Given the description of an element on the screen output the (x, y) to click on. 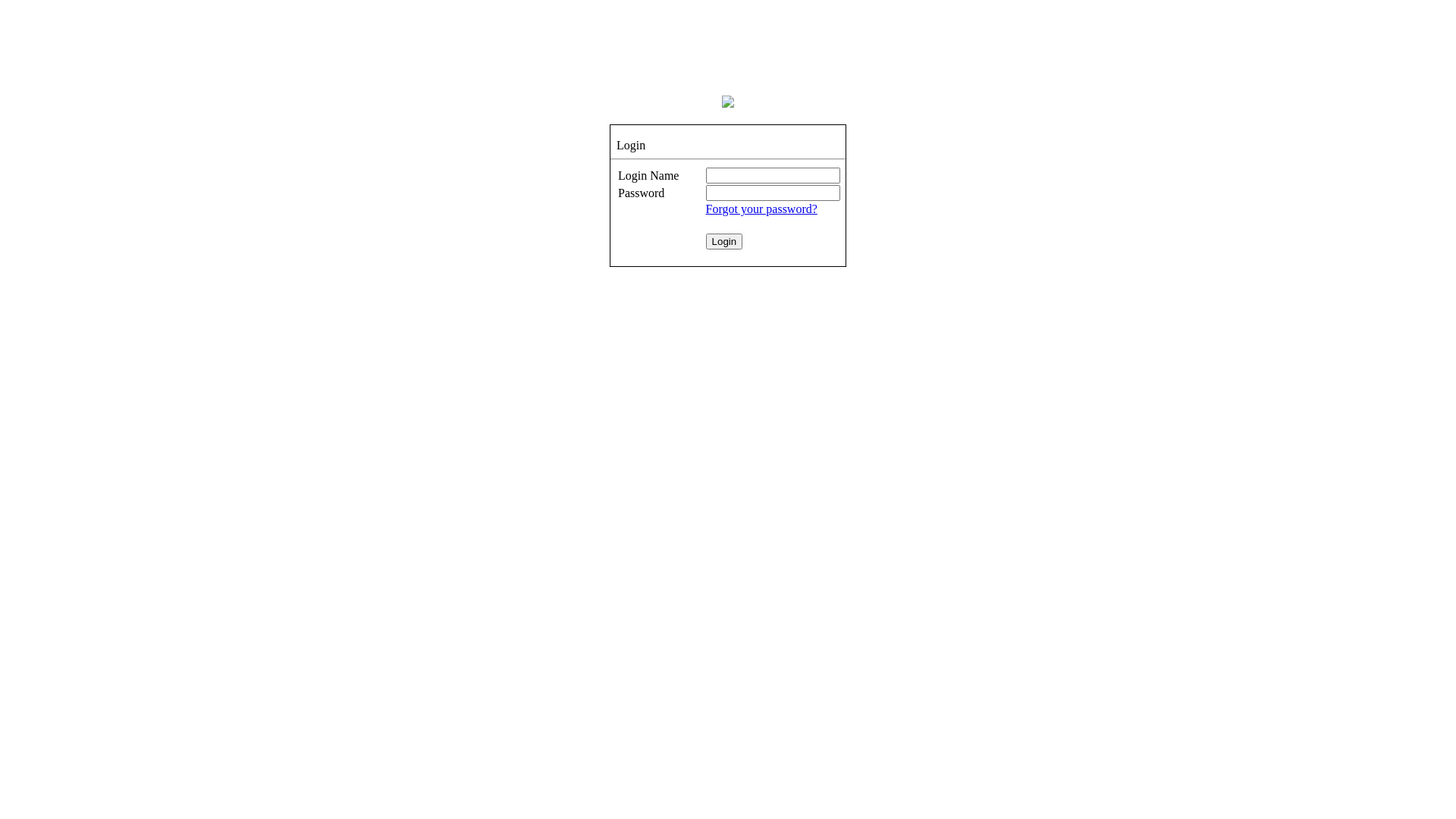
Forgot your password? Element type: text (761, 208)
Login Element type: text (724, 241)
